Given the description of an element on the screen output the (x, y) to click on. 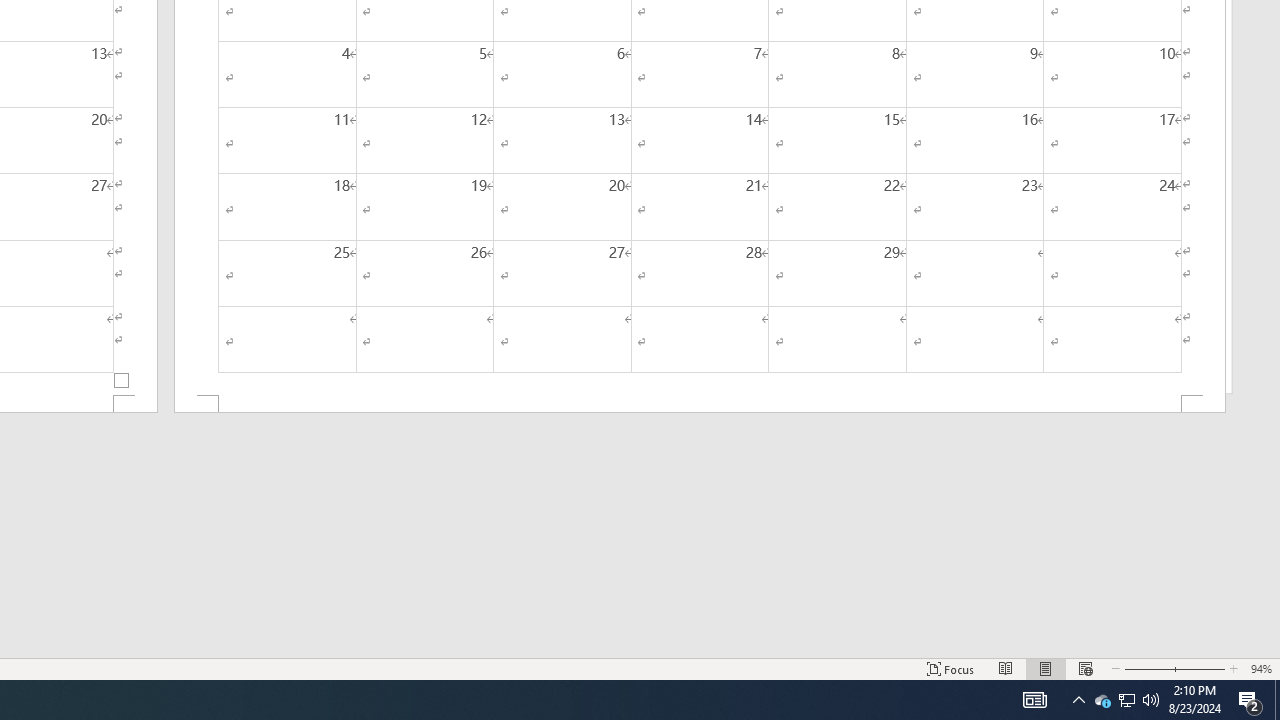
Footer -Section 2- (700, 404)
